Given the description of an element on the screen output the (x, y) to click on. 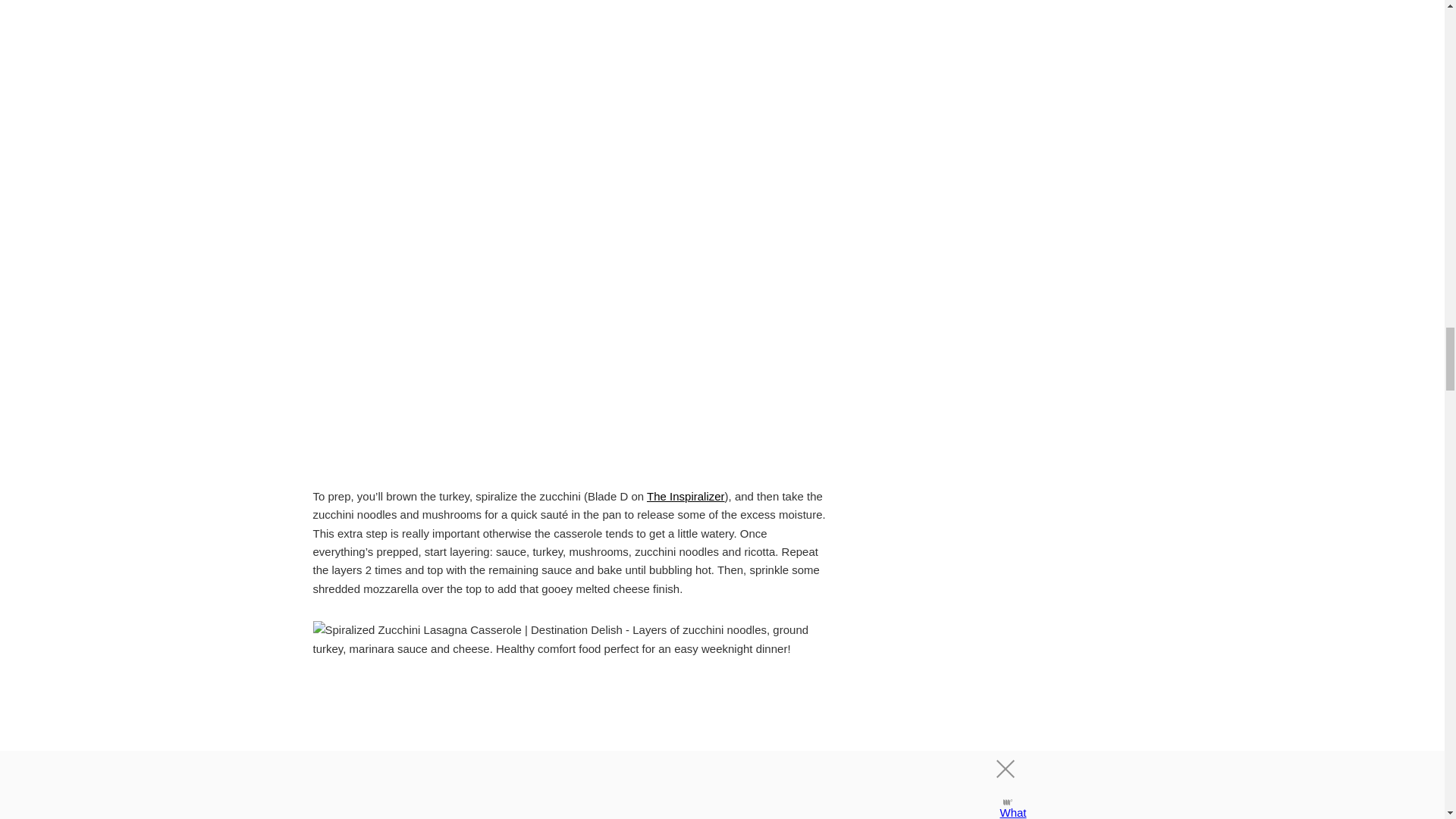
The Inspiralizer (685, 495)
